Given the description of an element on the screen output the (x, y) to click on. 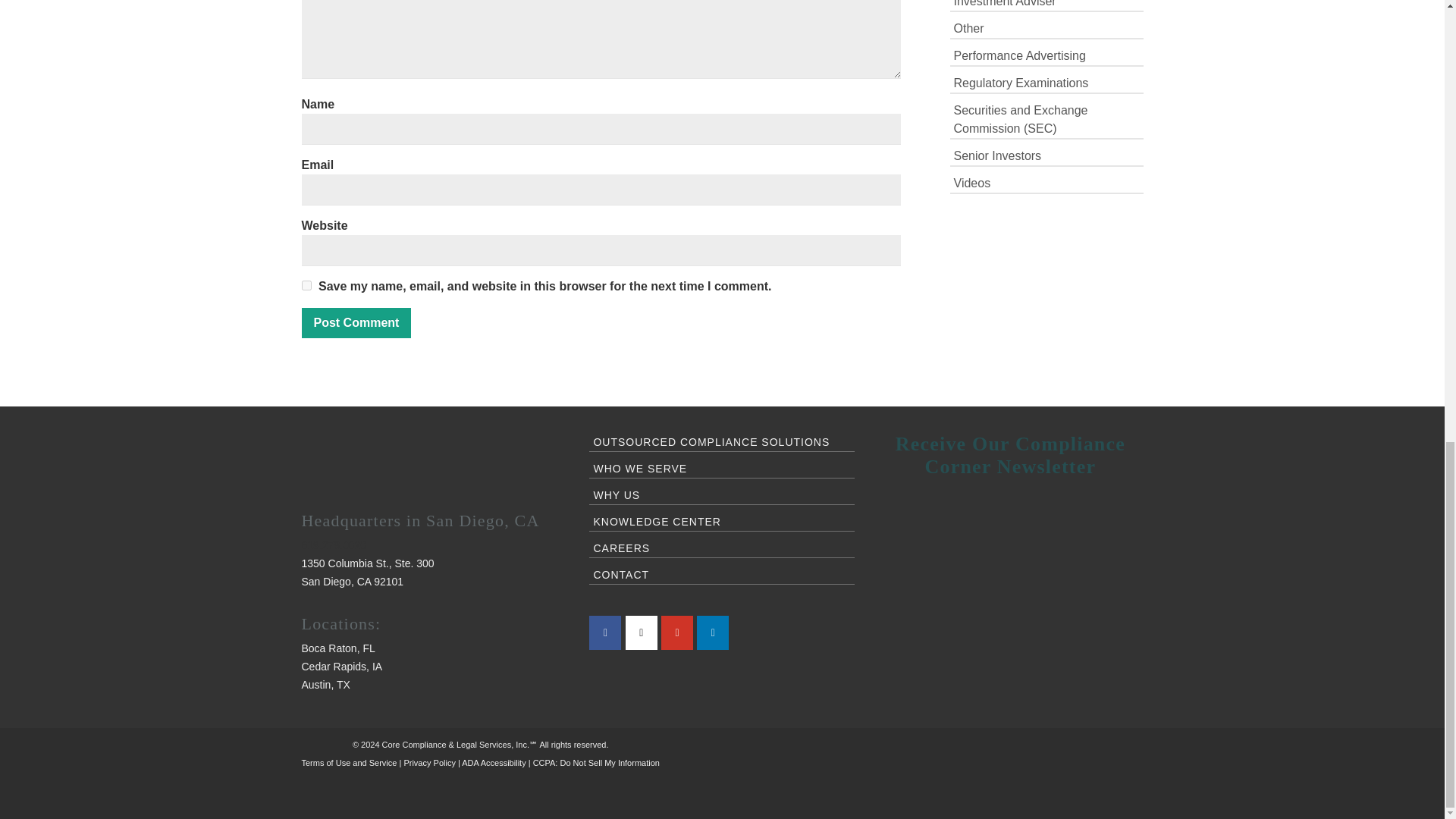
Core Compliance on Youtube (677, 632)
Core Compliance on Facebook (605, 632)
Post Comment (356, 322)
yes (306, 285)
Core Compliance on Linkedin (713, 632)
Core Compliance on X Twitter (642, 632)
